Given the description of an element on the screen output the (x, y) to click on. 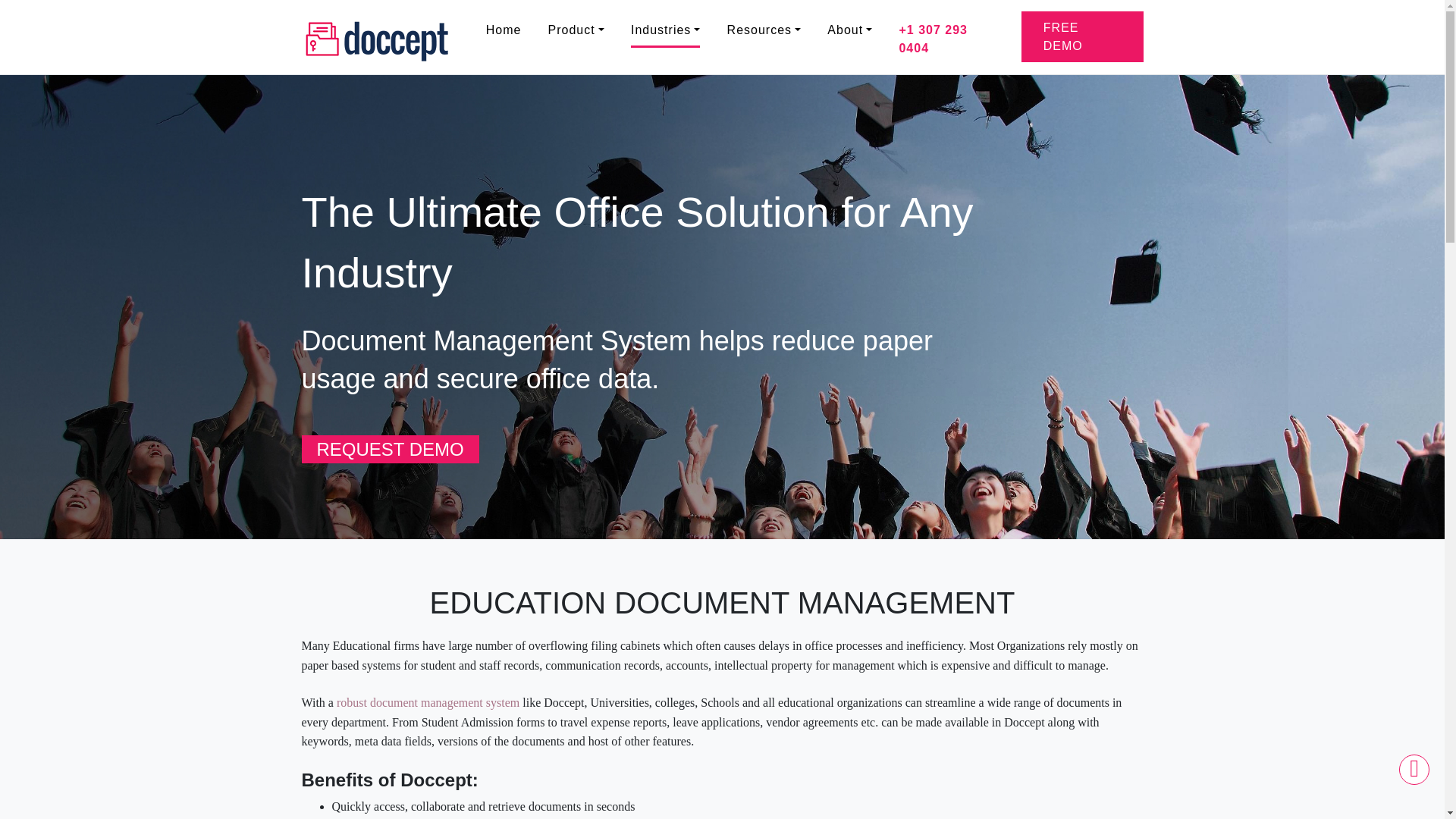
robust document management system (427, 702)
Click to return on the top page (1414, 769)
Product (575, 28)
Resources (764, 28)
Industries (665, 28)
Home (503, 28)
About (849, 28)
